Given the description of an element on the screen output the (x, y) to click on. 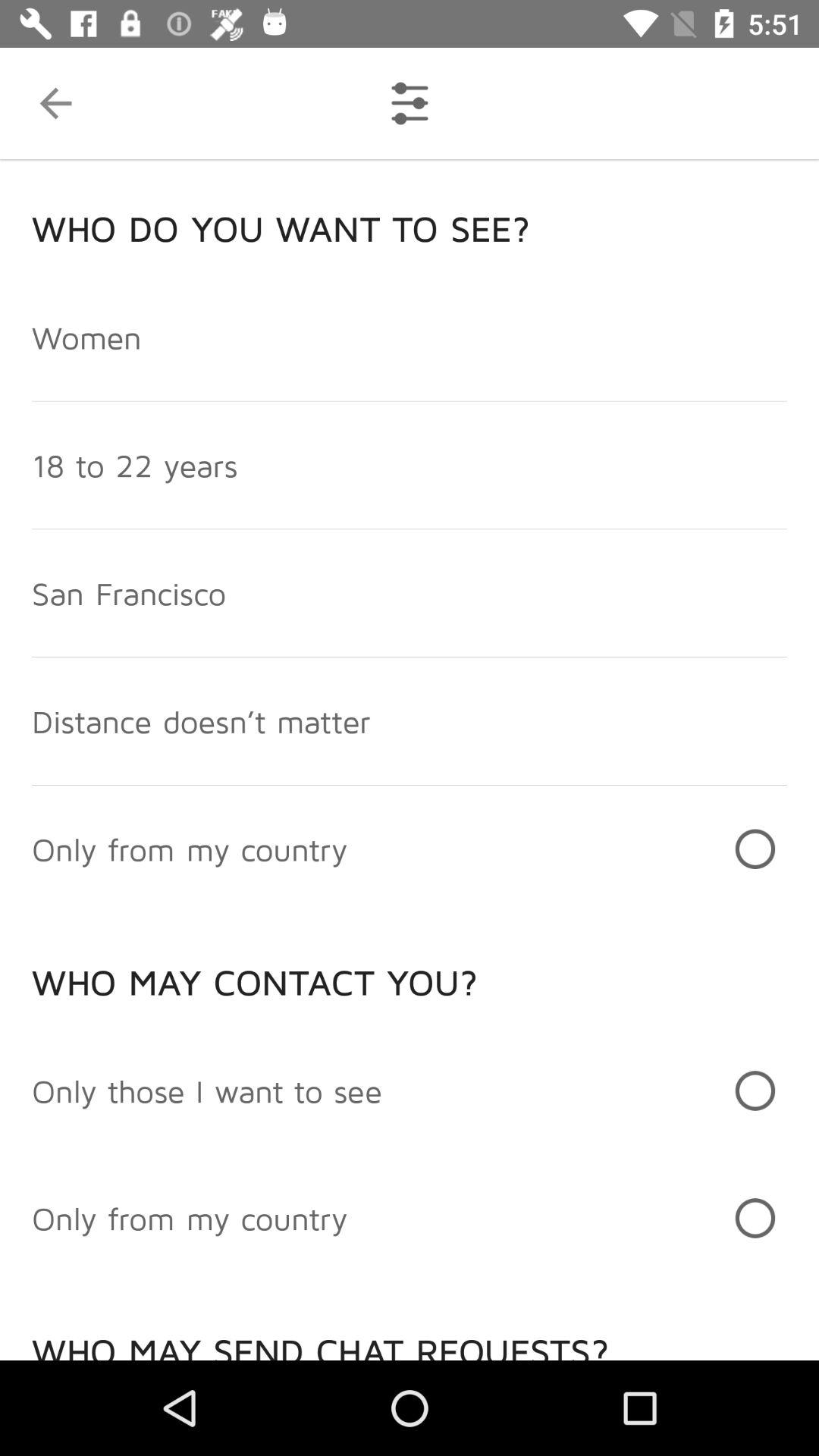
flip until women item (86, 336)
